Given the description of an element on the screen output the (x, y) to click on. 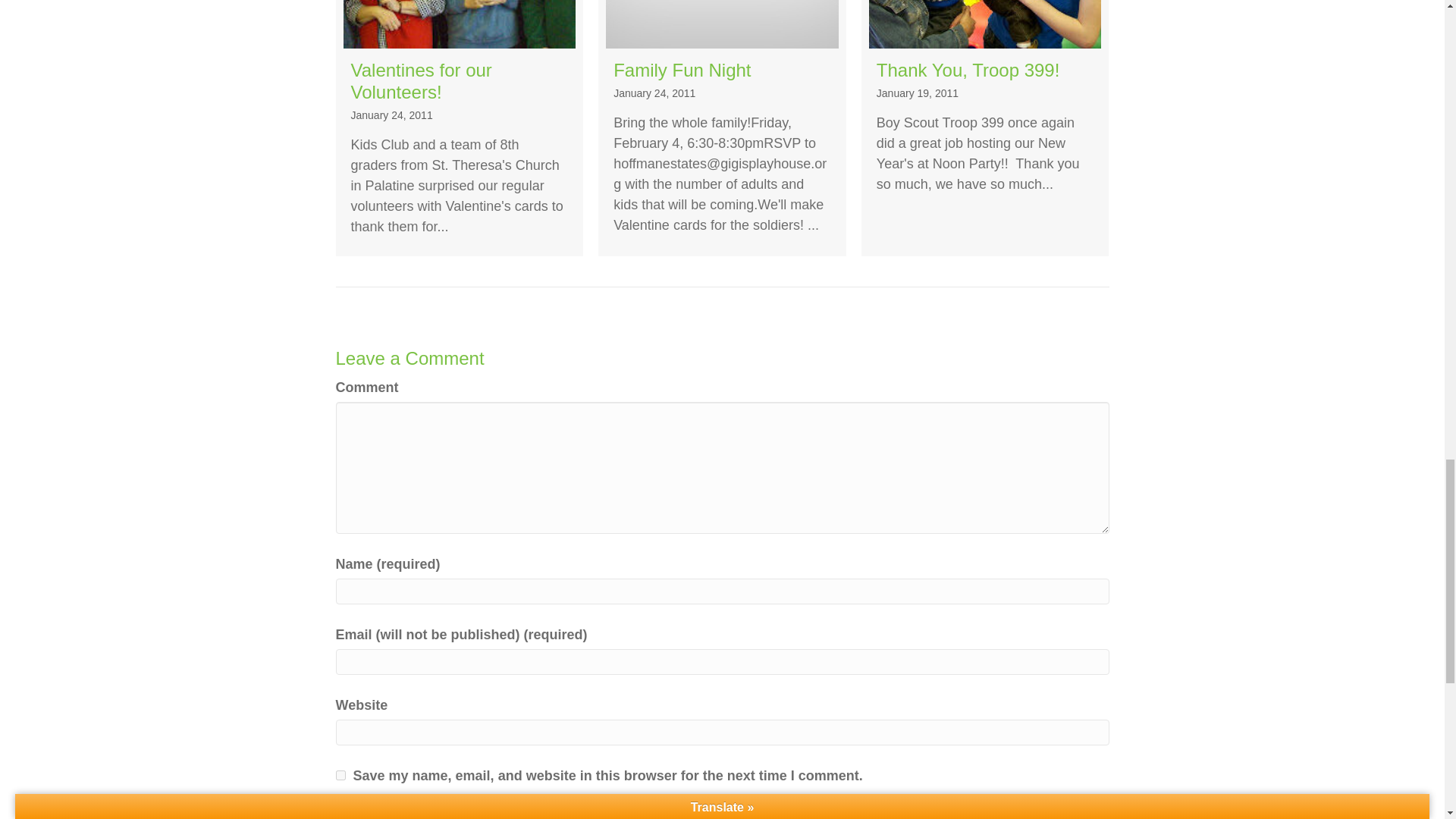
Valentines for our Volunteers! (458, 128)
yes (339, 775)
Submit Comment (448, 808)
Family Fun Night (721, 128)
Thank You, Troop 399! (985, 128)
